Given the description of an element on the screen output the (x, y) to click on. 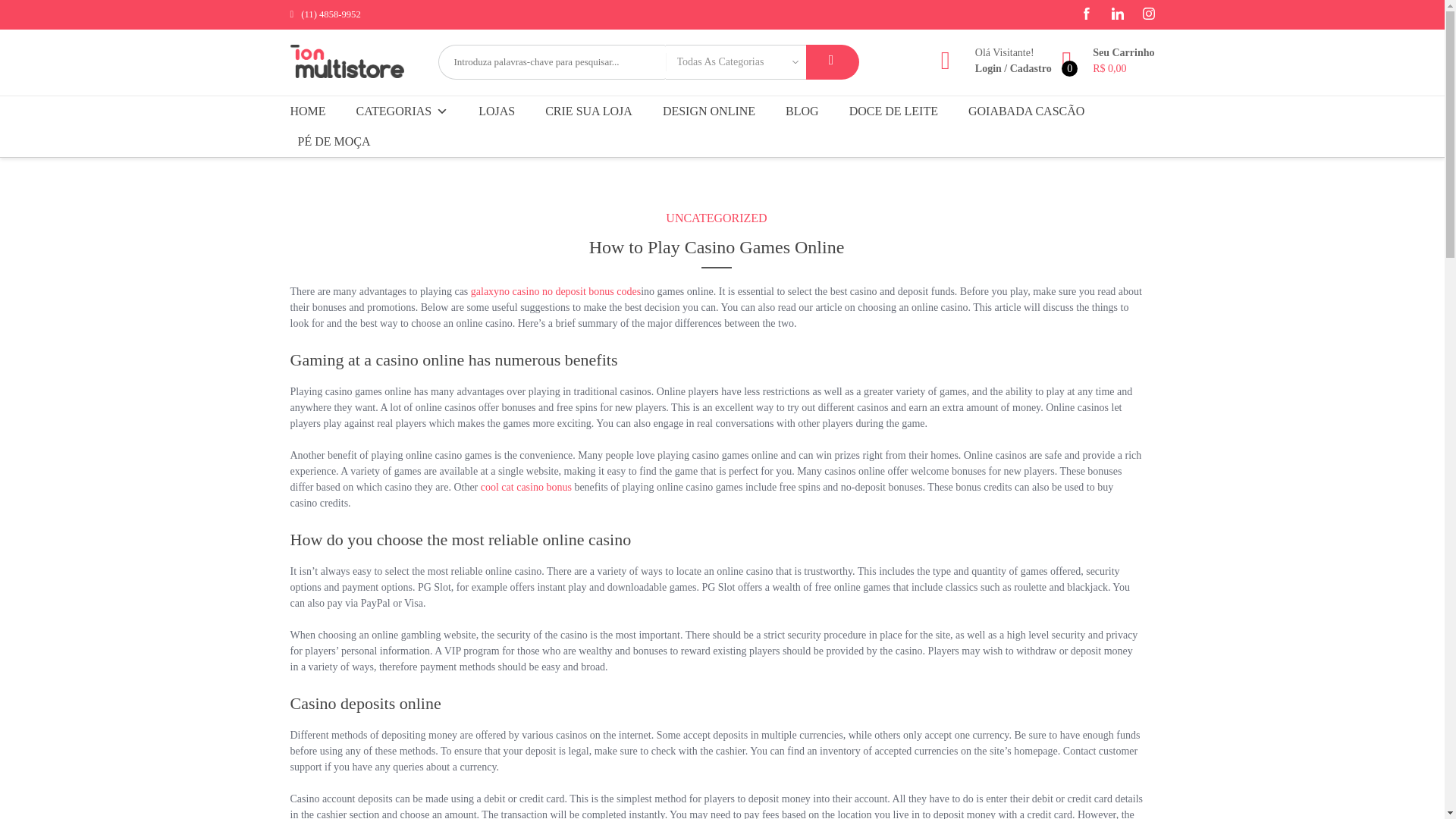
CRIE SUA LOJA (588, 111)
DOCE DE LEITE (892, 111)
DESIGN ONLINE (708, 111)
UNCATEGORIZED (716, 218)
cool cat casino bonus (526, 487)
How to Play Casino Games Online (715, 250)
BLOG (802, 111)
HOME (311, 111)
LOJAS (496, 111)
CATEGORIAS (403, 111)
